Given the description of an element on the screen output the (x, y) to click on. 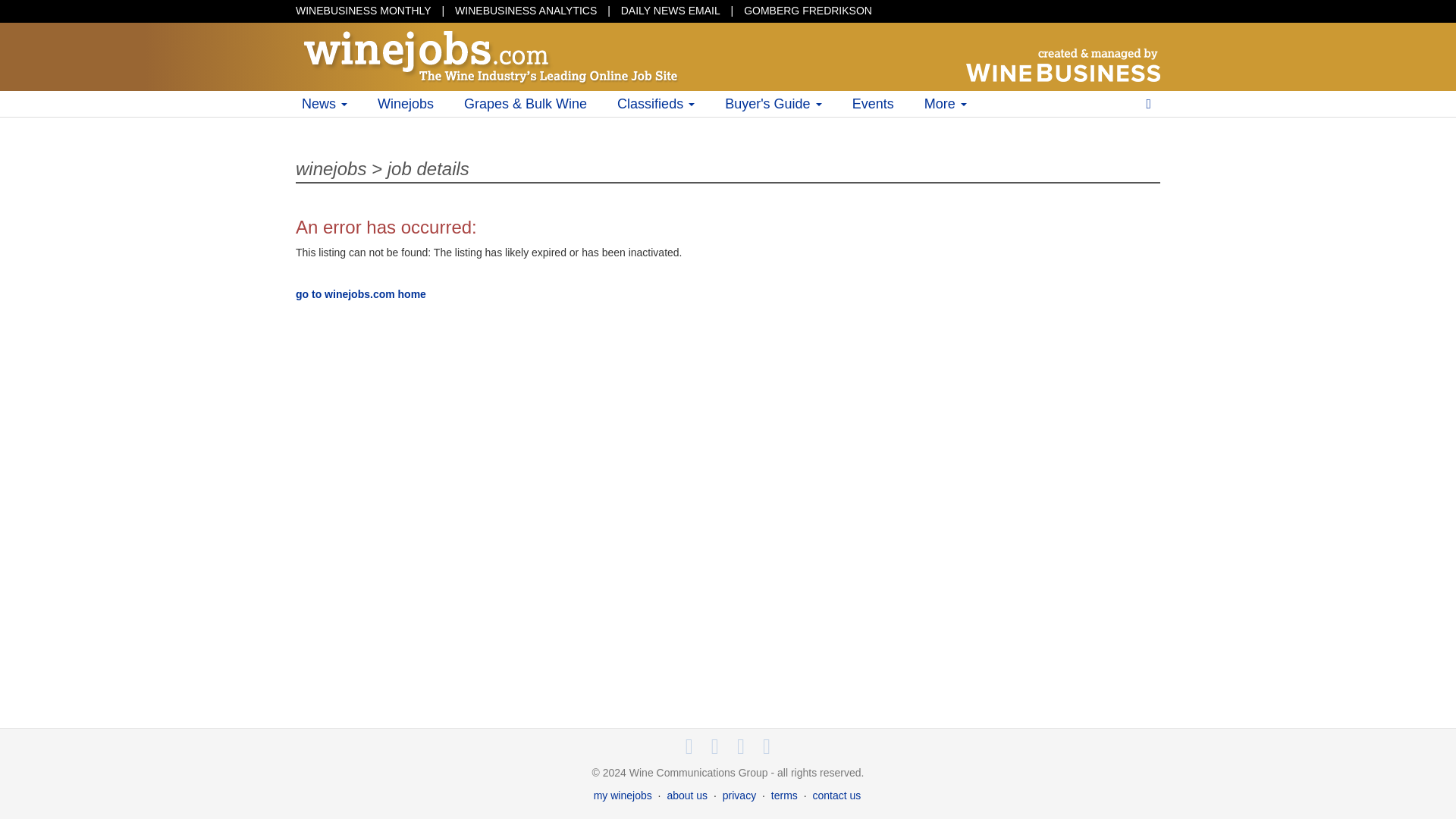
WINEBUSINESS ANALYTICS (525, 10)
WINEBUSINESS MONTHLY (362, 10)
GOMBERG FREDRIKSON (808, 10)
DAILY NEWS EMAIL (670, 10)
